Given the description of an element on the screen output the (x, y) to click on. 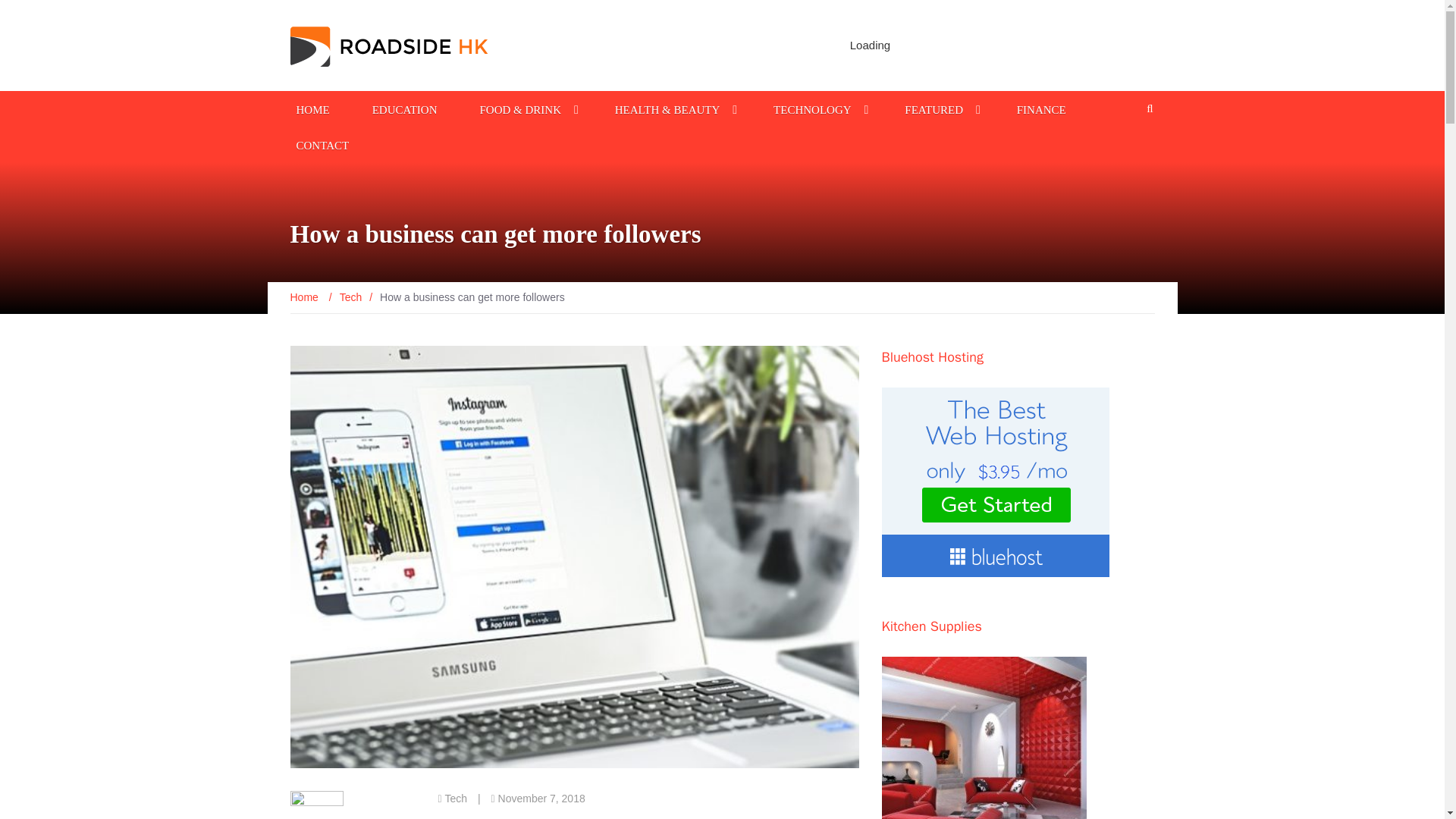
Tech (350, 297)
EDUCATION (405, 108)
CONTACT (322, 144)
FEATURED (933, 108)
Home (304, 297)
FINANCE (1040, 108)
TECHNOLOGY (812, 108)
HOME (311, 108)
